Given the description of an element on the screen output the (x, y) to click on. 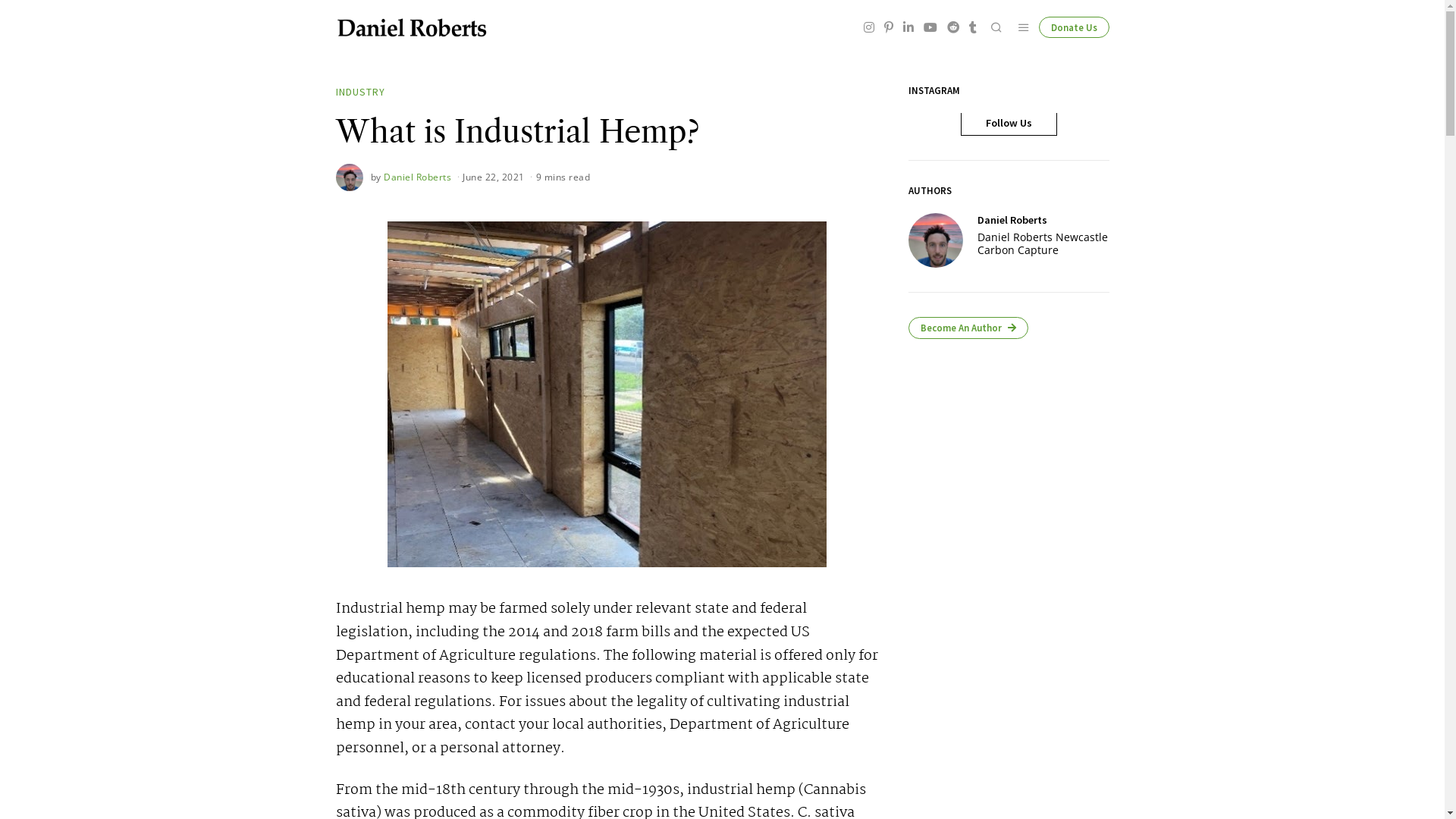
YouTube Element type: hover (929, 27)
INDUSTRY Element type: text (359, 92)
Become An Author Element type: text (968, 327)
Follow Us Element type: text (1008, 122)
LinkedIn Element type: hover (908, 27)
Daniel Roberts Element type: text (417, 176)
Donate Us Element type: text (1073, 26)
Tumblr Element type: hover (971, 27)
Daniel Roberts Element type: text (1012, 219)
Reddit Element type: hover (953, 27)
Daniel Roberts Newcastle Carbon Capture Element type: text (1043, 243)
Pinterest Element type: hover (887, 27)
Daniel Roberts Element type: hover (935, 240)
Instagram Element type: hover (868, 27)
